Given the description of an element on the screen output the (x, y) to click on. 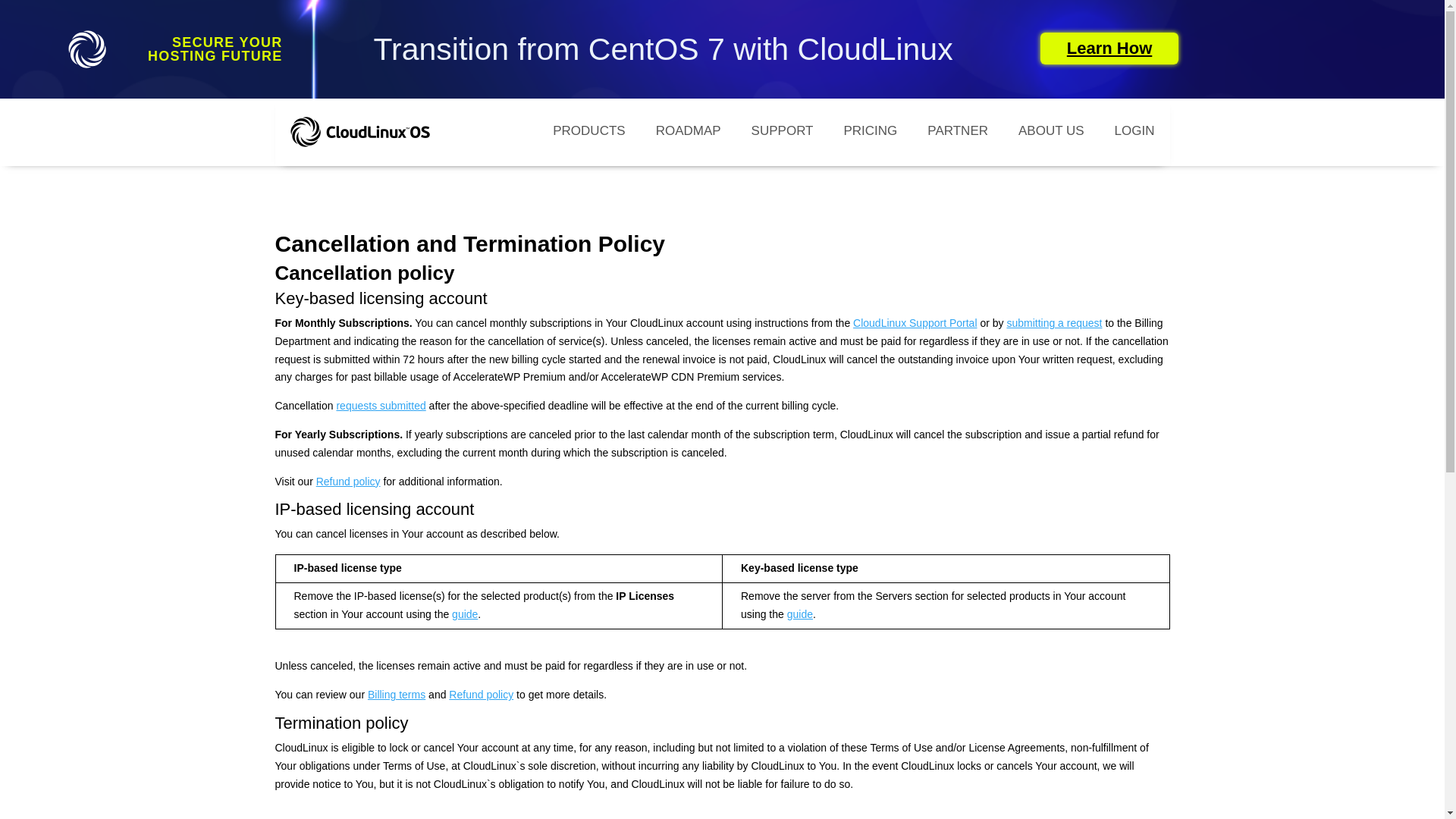
Learn How (1109, 48)
PARTNER (957, 132)
PRODUCTS (588, 132)
LOGIN (1134, 132)
ABOUT US (1051, 132)
ROADMAP (688, 132)
PRICING (870, 132)
SUPPORT (782, 132)
